Given the description of an element on the screen output the (x, y) to click on. 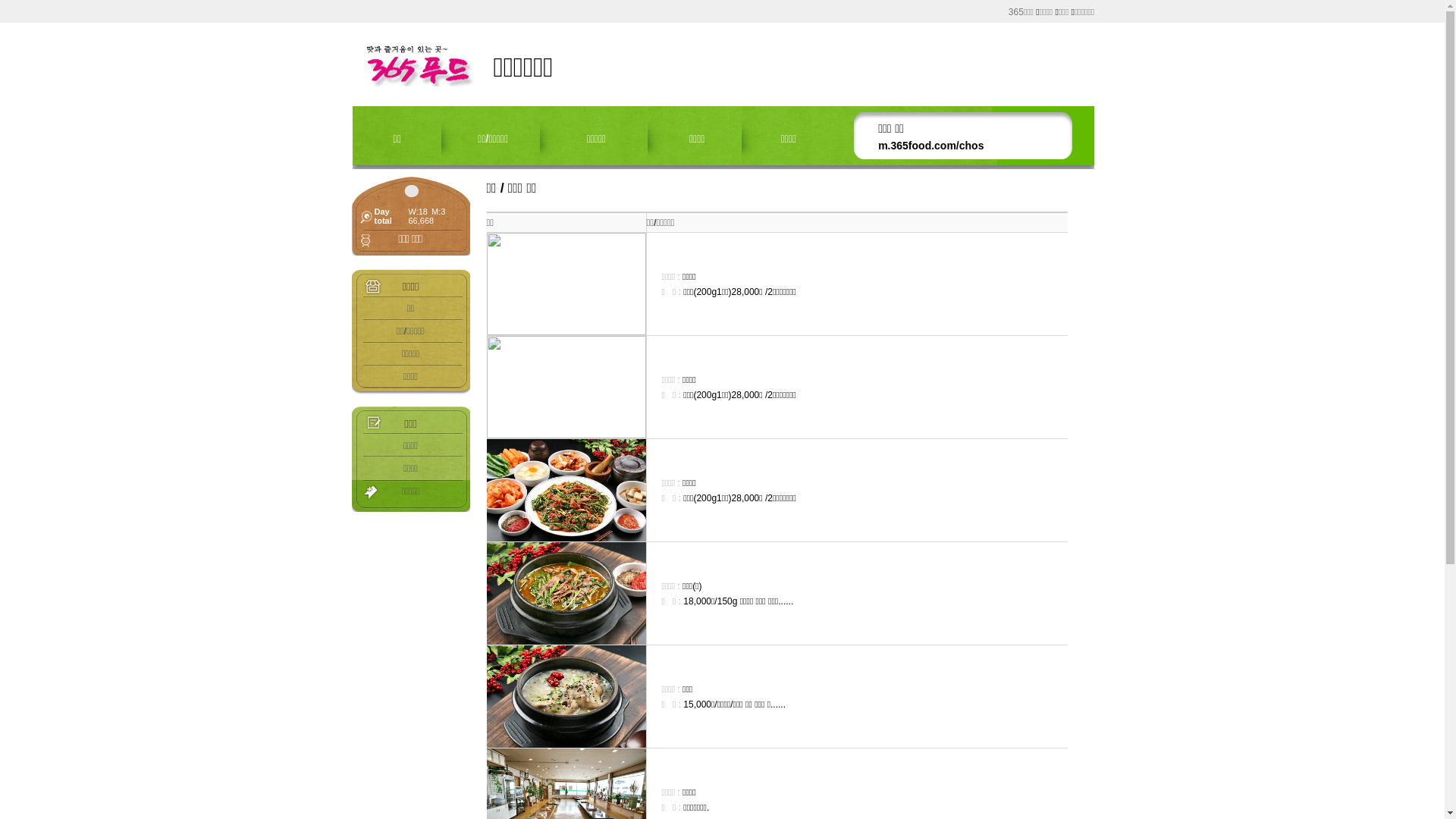
m.365food.com/chos Element type: text (930, 145)
